Given the description of an element on the screen output the (x, y) to click on. 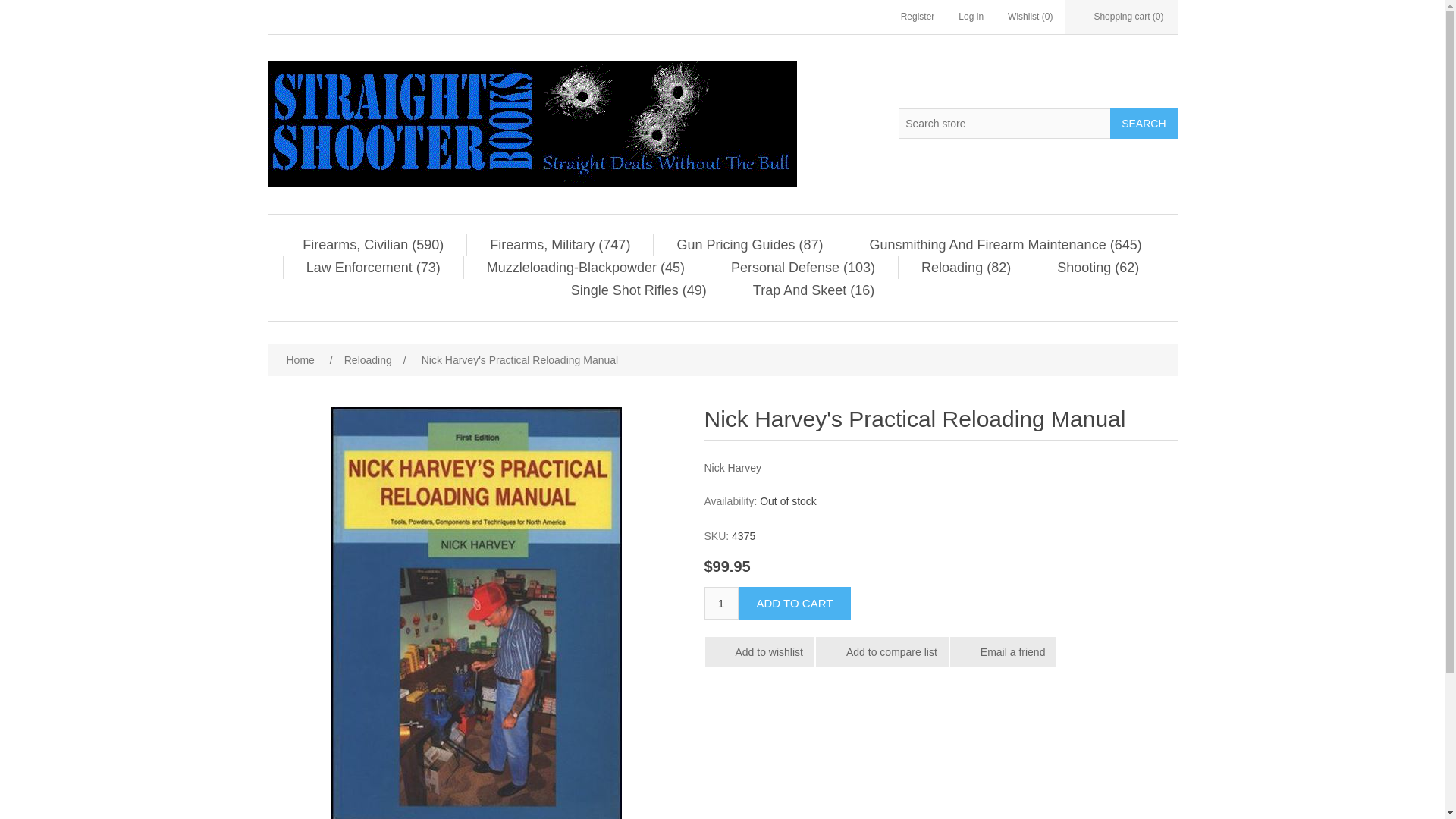
SEARCH (1142, 122)
Register (917, 17)
1 (720, 603)
